Given the description of an element on the screen output the (x, y) to click on. 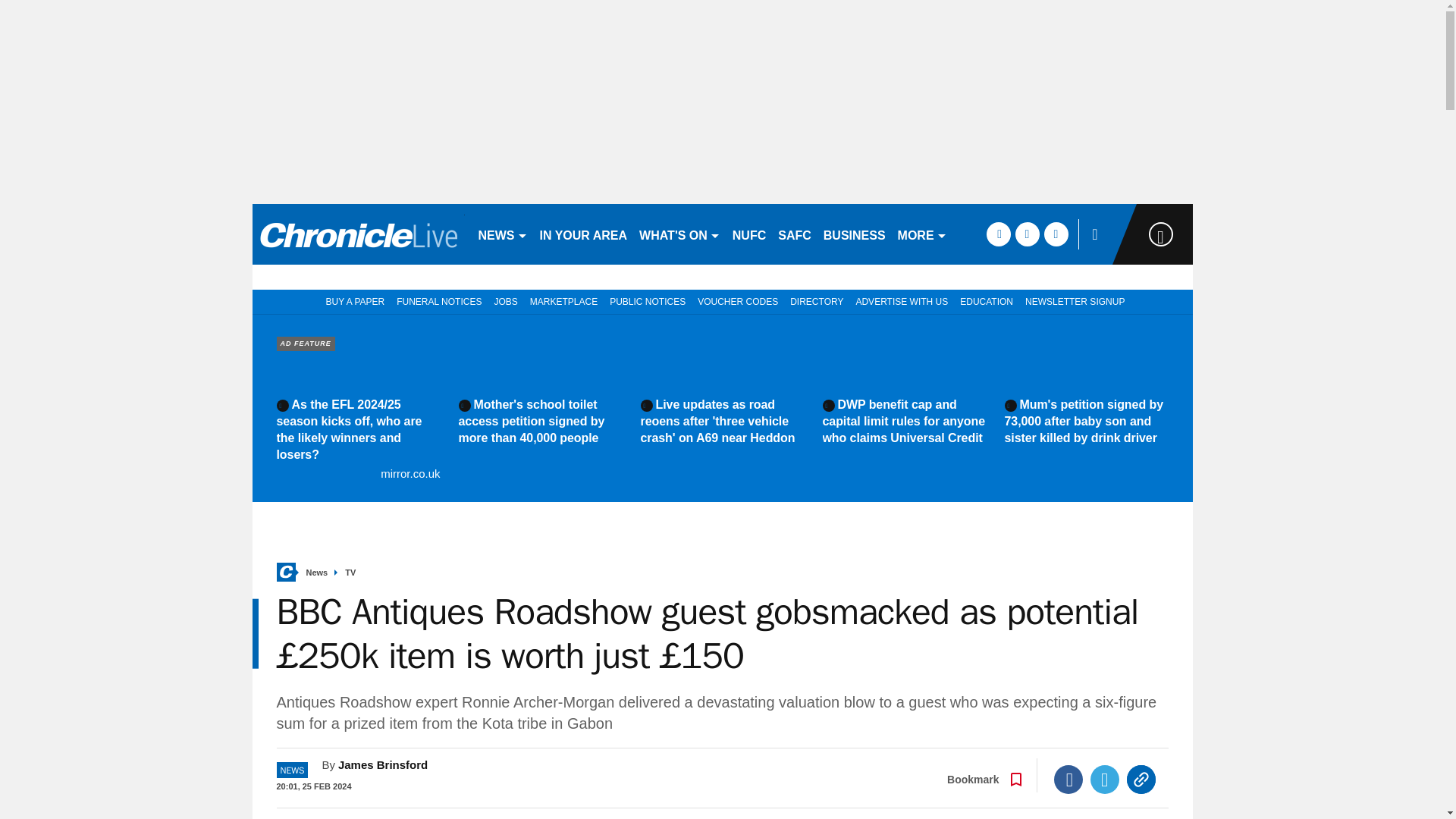
twitter (1026, 233)
nechronicle (357, 233)
IN YOUR AREA (583, 233)
facebook (997, 233)
WHAT'S ON (679, 233)
NEWS (501, 233)
Facebook (1068, 778)
instagram (1055, 233)
Twitter (1104, 778)
BUSINESS (853, 233)
